Given the description of an element on the screen output the (x, y) to click on. 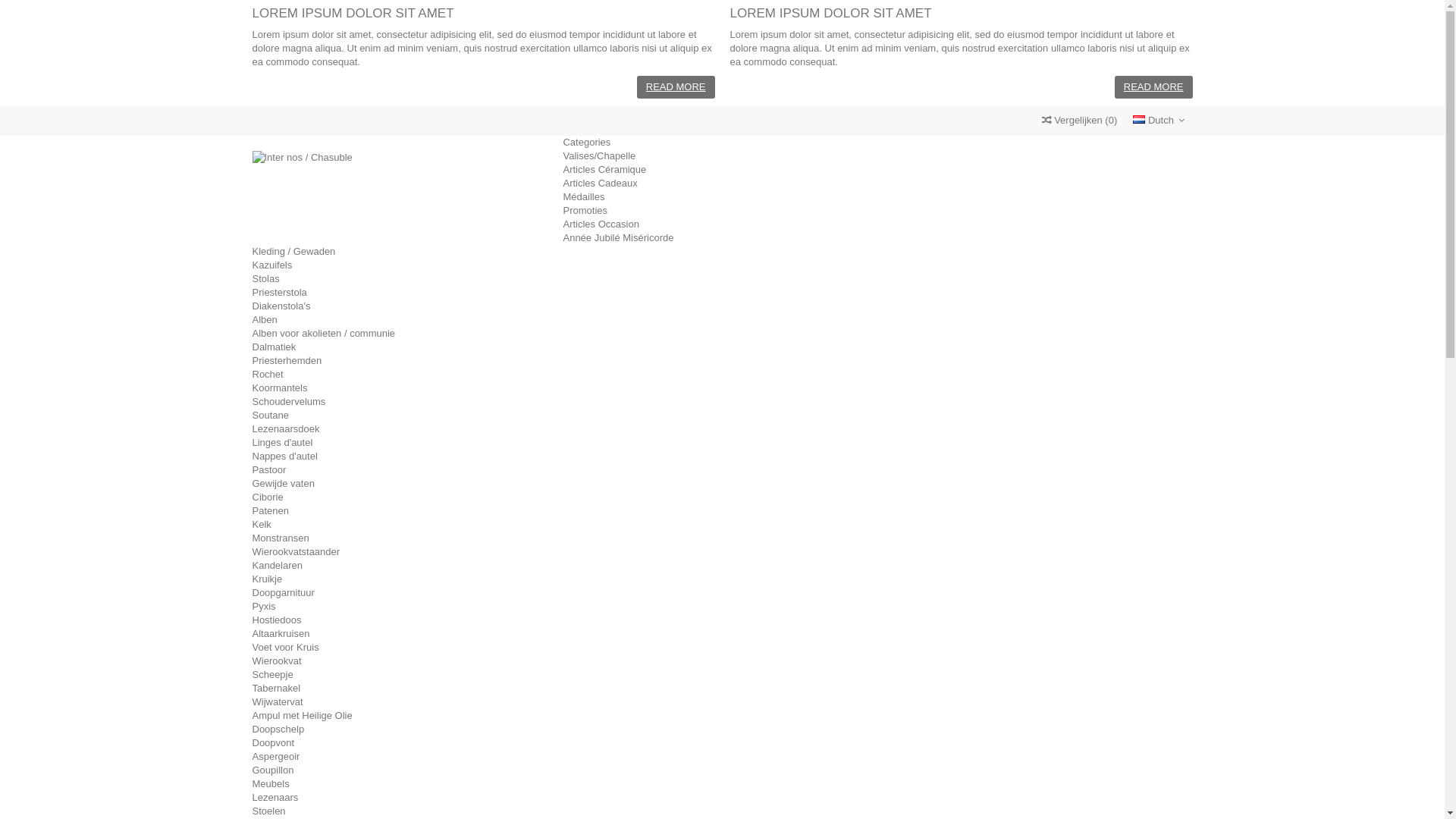
Meubels Element type: text (269, 783)
Valises/Chapelle Element type: text (598, 155)
Gewijde vaten Element type: text (282, 483)
Stolas Element type: text (265, 278)
Pastoor Element type: text (268, 469)
Lezenaarsdoek Element type: text (285, 428)
READ MORE Element type: text (1153, 86)
Scheepje Element type: text (271, 674)
Doopvont Element type: text (272, 742)
Koormantels Element type: text (279, 387)
Alben voor akolieten / communie Element type: text (323, 332)
Ciborie Element type: text (266, 496)
READ MORE Element type: text (676, 86)
Lezenaars Element type: text (274, 797)
Patenen Element type: text (269, 510)
Pyxis Element type: text (263, 605)
Kleding / Gewaden Element type: text (293, 251)
Schoudervelums Element type: text (288, 401)
Articles Occasion Element type: text (600, 223)
Hostiedoos Element type: text (276, 619)
Wijwatervat Element type: text (276, 701)
Diakenstola's Element type: text (280, 305)
Altaarkruisen Element type: text (280, 633)
Kelk Element type: text (260, 524)
Wierookvatstaander Element type: text (295, 551)
Nappes d'autel Element type: text (283, 455)
Kruikje Element type: text (266, 578)
Stoelen Element type: text (268, 810)
Goupillon Element type: text (272, 769)
Wierookvat Element type: text (276, 660)
Priesterstola Element type: text (278, 292)
Ampul met Heilige Olie Element type: text (301, 715)
Priesterhemden Element type: text (286, 360)
Articles Cadeaux Element type: text (599, 182)
Doopschelp Element type: text (277, 728)
Kandelaren Element type: text (276, 565)
Tabernakel Element type: text (275, 687)
Alben Element type: text (263, 319)
Voet voor Kruis Element type: text (284, 646)
Kazuifels Element type: text (271, 264)
Linges d'autel Element type: text (281, 442)
Promoties Element type: text (584, 210)
Dalmatiek Element type: text (273, 346)
Aspergeoir Element type: text (275, 756)
Vergelijken (0) Element type: text (1079, 120)
Rochet Element type: text (266, 373)
Soutane Element type: text (269, 414)
Doopgarnituur Element type: text (282, 592)
Monstransen Element type: text (279, 537)
